Given the description of an element on the screen output the (x, y) to click on. 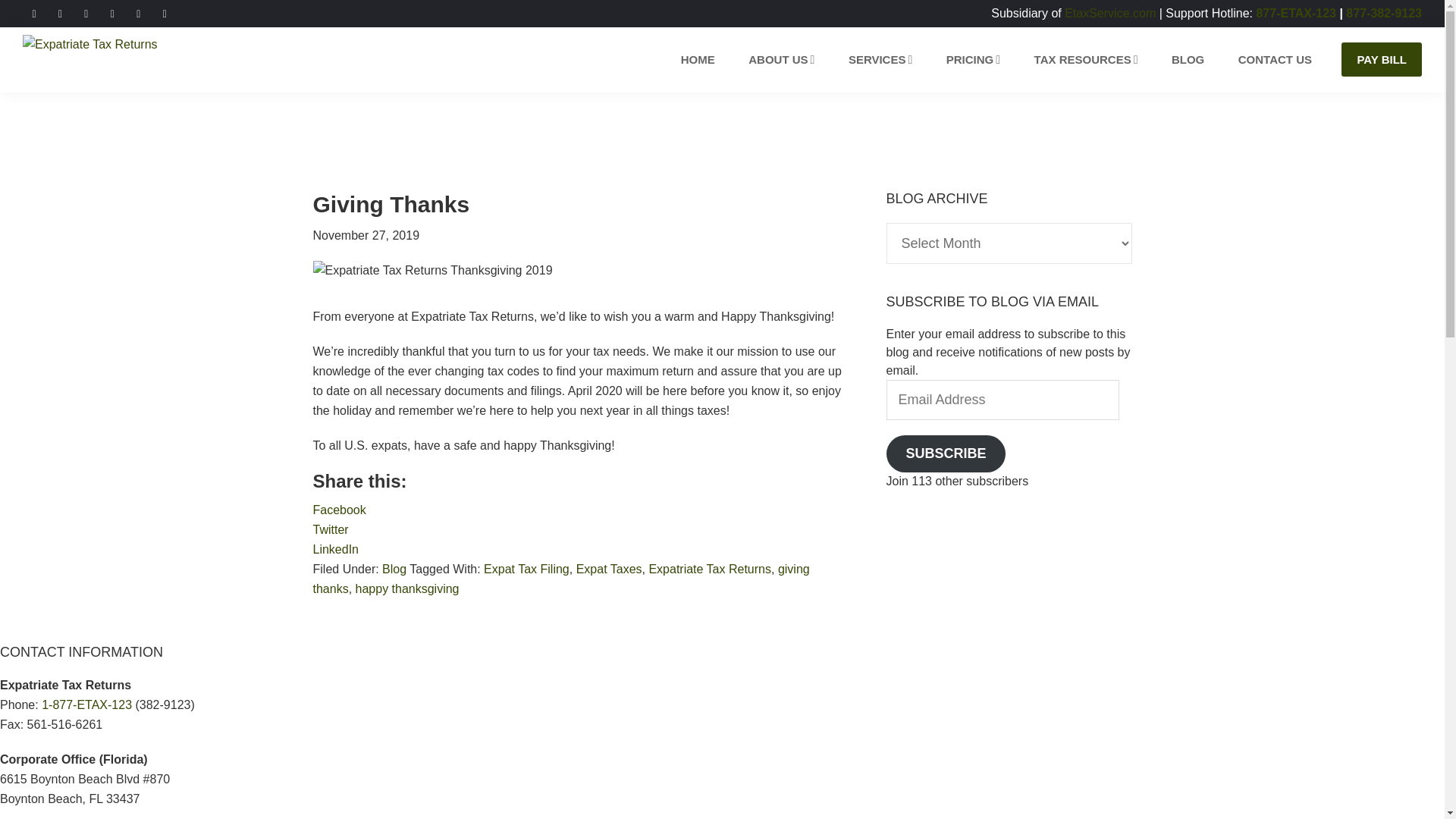
SERVICES (879, 59)
CONTACT US (1274, 59)
youtube (86, 12)
HOME (697, 59)
Instagram (86, 12)
877-382-9123 (1383, 12)
Click to share on LinkedIn (335, 549)
LinkedIn (335, 549)
877-ETAX-123 (1295, 12)
Default Label (111, 12)
PAY BILL (1381, 59)
Twitter (59, 12)
yelp (139, 12)
Facebook (339, 509)
Facebook (34, 12)
